Given the description of an element on the screen output the (x, y) to click on. 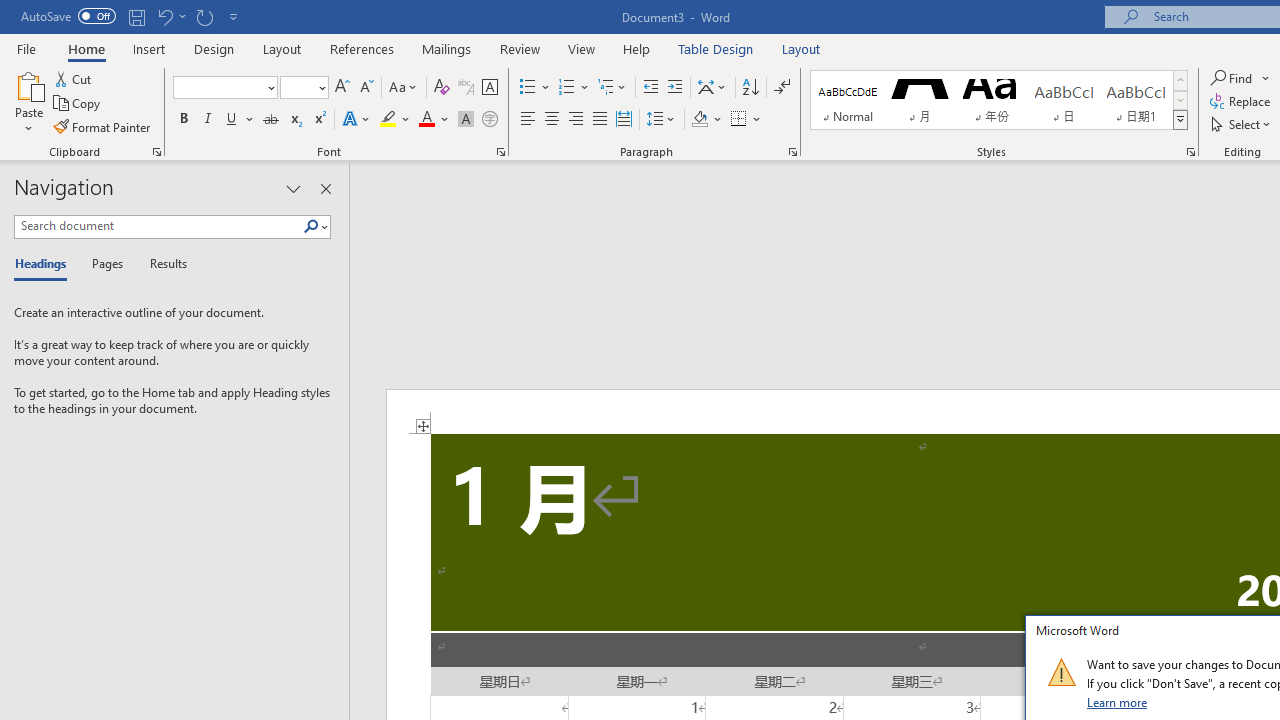
Align Left (527, 119)
Office Clipboard... (156, 151)
Character Border (489, 87)
Shrink Font (365, 87)
Font... (500, 151)
Shading RGB(0, 0, 0) (699, 119)
Text Highlight Color Yellow (388, 119)
AutomationID: QuickStylesGallery (999, 99)
Change Case (404, 87)
